Given the description of an element on the screen output the (x, y) to click on. 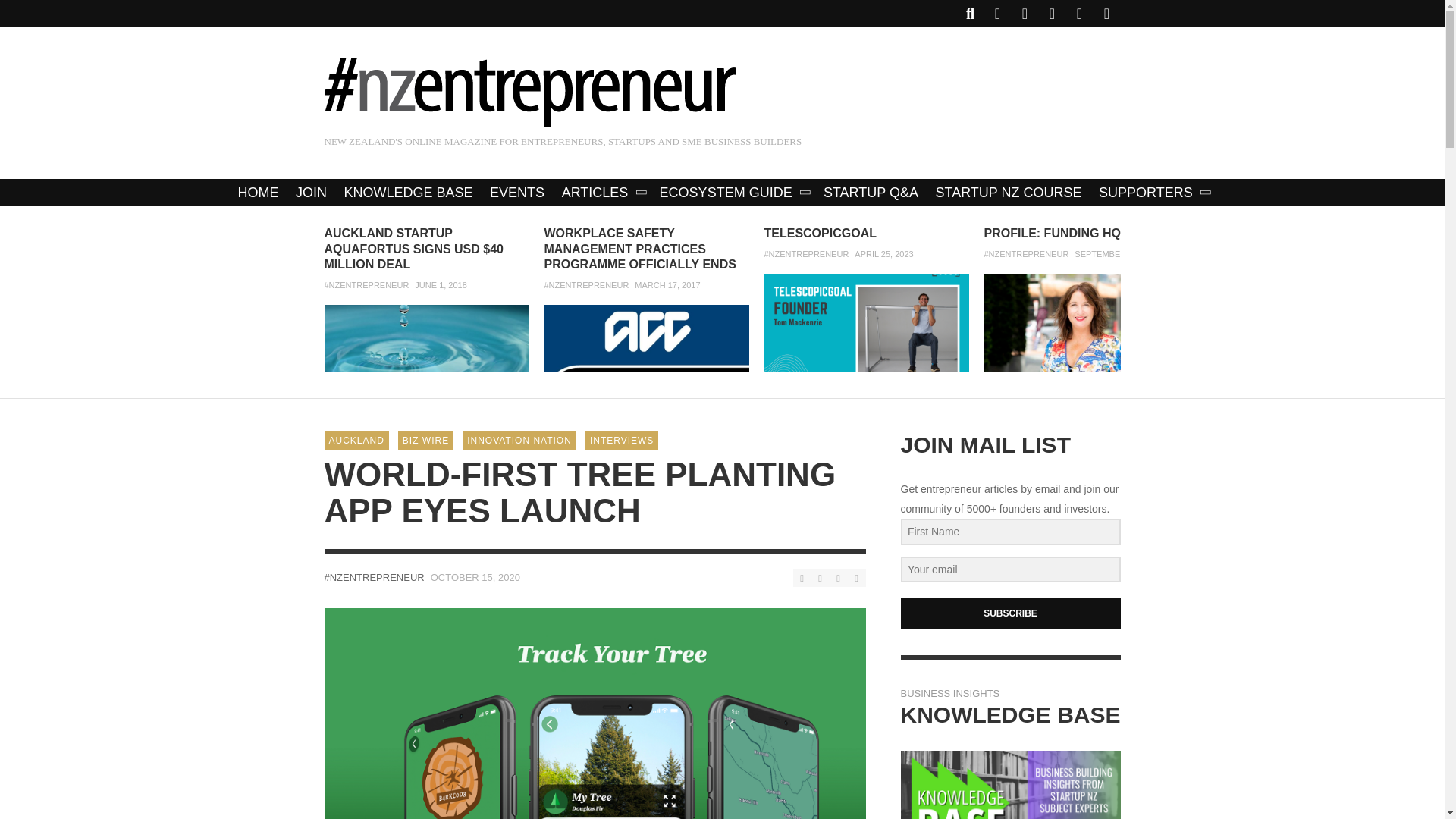
JOIN (311, 192)
SUPPORTERS (1152, 192)
TELESCOPICGOAL (820, 232)
PROFILE: FUNDING HQ (1052, 232)
EVENTS (517, 192)
HOME (257, 192)
ARTICLES (601, 192)
ECOSYSTEM GUIDE (731, 192)
KNOWLEDGE BASE (407, 192)
STARTUP NZ COURSE (1008, 192)
